Given the description of an element on the screen output the (x, y) to click on. 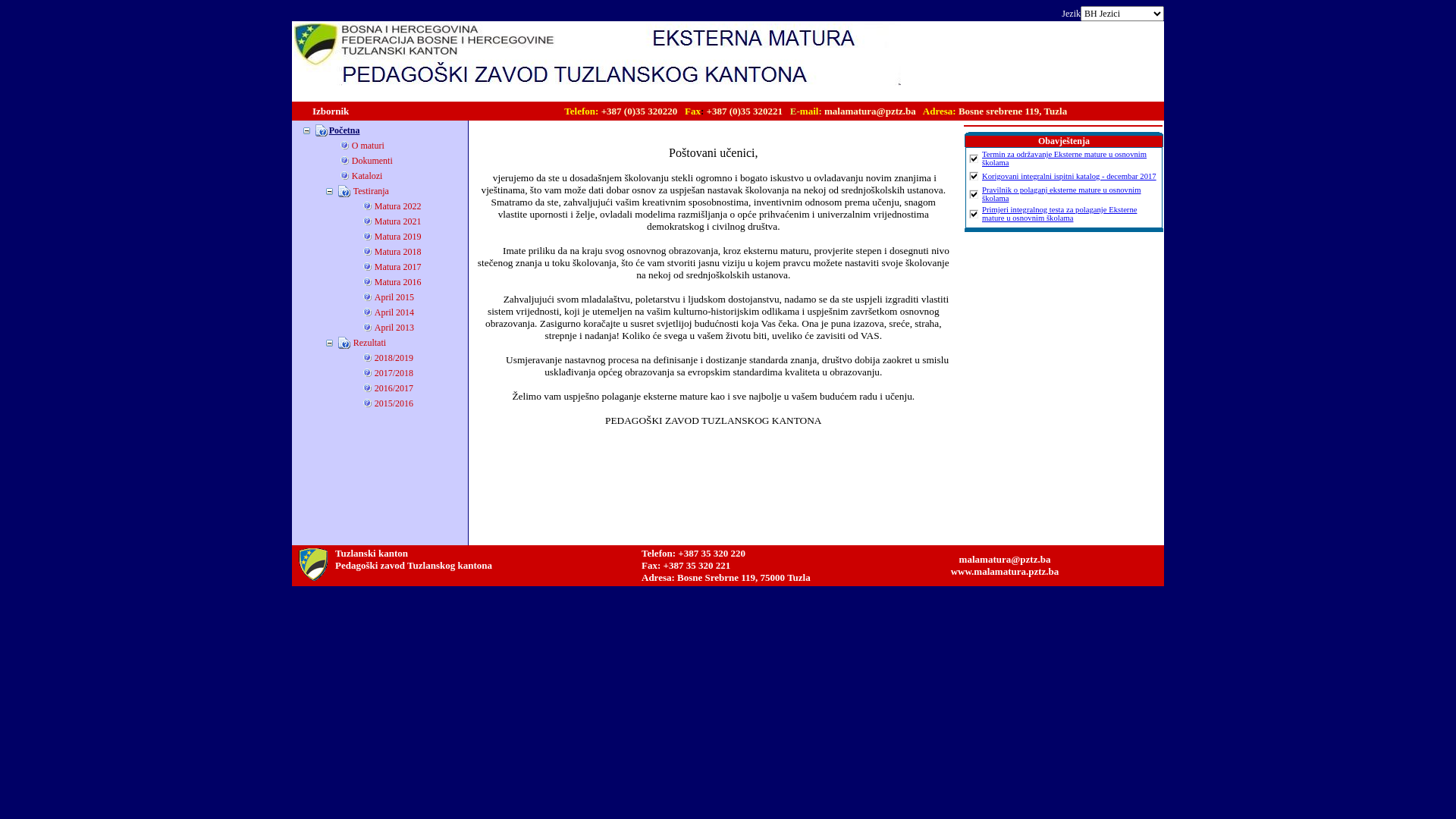
malamatura@pztz.ba Element type: text (1005, 558)
2015/2016 Element type: text (393, 402)
Matura 2022 Element type: text (397, 205)
April 2015 Element type: text (394, 296)
Matura 2019 Element type: text (397, 235)
Matura 2016 Element type: text (397, 281)
Matura 2018 Element type: text (397, 250)
April 2014 Element type: text (394, 311)
Korigovani integralni ispitni katalog - decembar 2017 Element type: text (1069, 176)
O maturi Element type: text (367, 144)
Dokumenti Element type: text (371, 159)
2017/2018 Element type: text (393, 372)
2018/2019 Element type: text (393, 356)
Matura 2017 Element type: text (397, 265)
April 2013 Element type: text (394, 326)
Katalozi Element type: text (366, 174)
Matura 2021 Element type: text (397, 220)
2016/2017 Element type: text (393, 387)
